Given the description of an element on the screen output the (x, y) to click on. 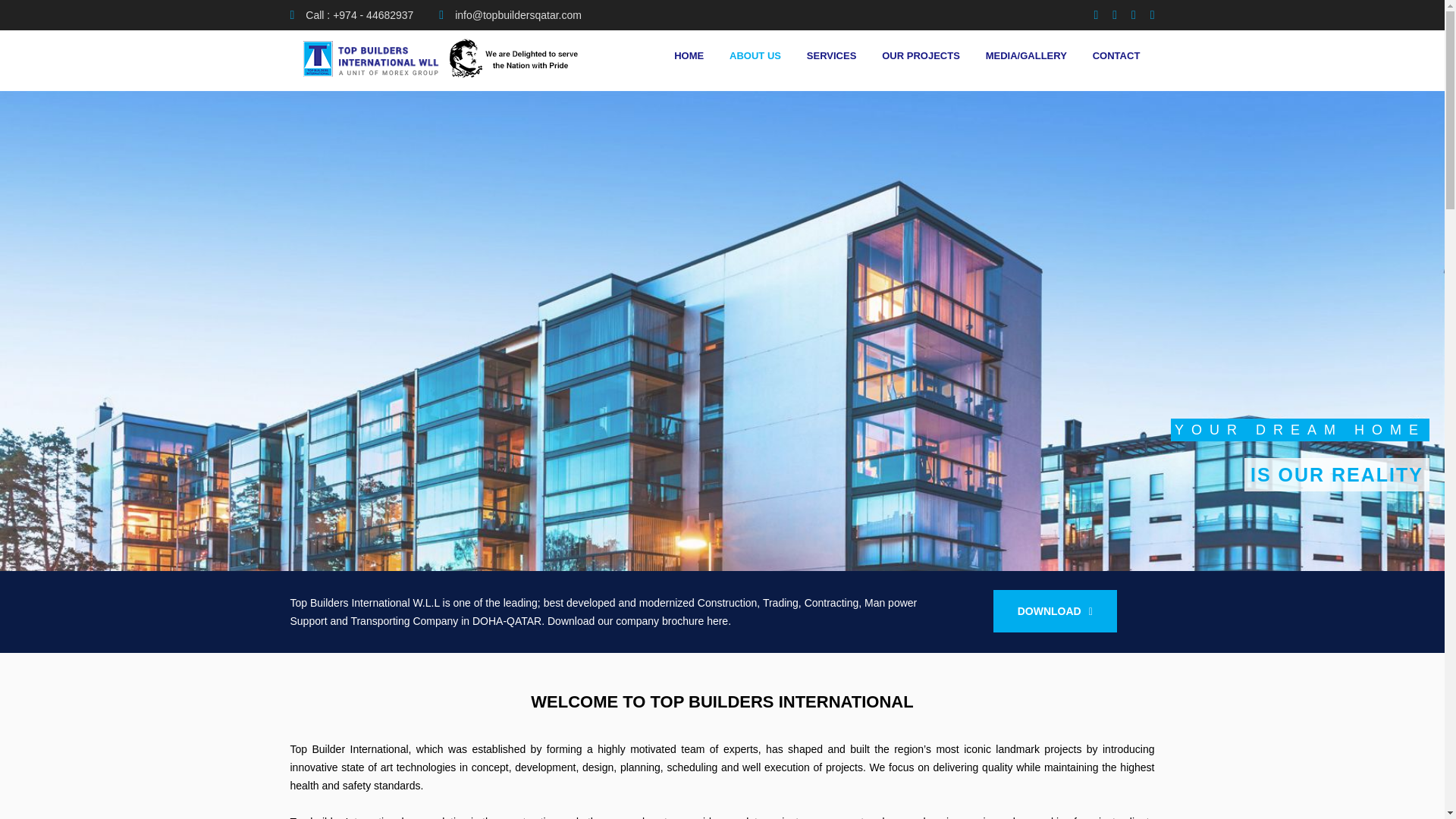
CONTACT (1116, 55)
OUR PROJECTS (920, 55)
ABOUT US (754, 55)
SERVICES (831, 55)
HOME (688, 55)
